Given the description of an element on the screen output the (x, y) to click on. 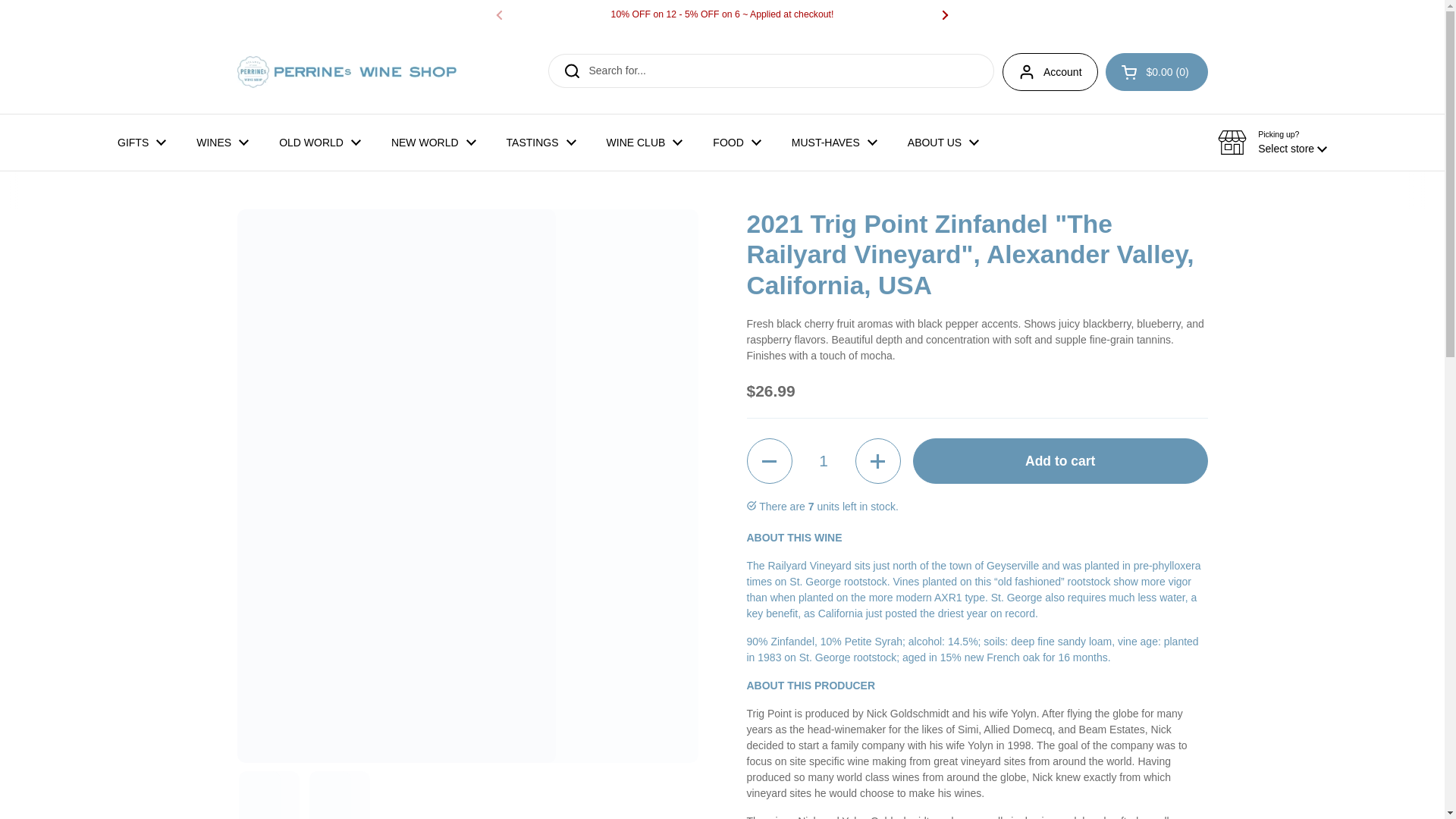
1 (822, 461)
PERRINE's WINE SHOP (345, 71)
Account (1050, 71)
GIFTS (140, 142)
OLD WORLD (319, 142)
WINES (221, 142)
WINES (221, 142)
GIFTS (140, 142)
Open cart (1156, 71)
